Given the description of an element on the screen output the (x, y) to click on. 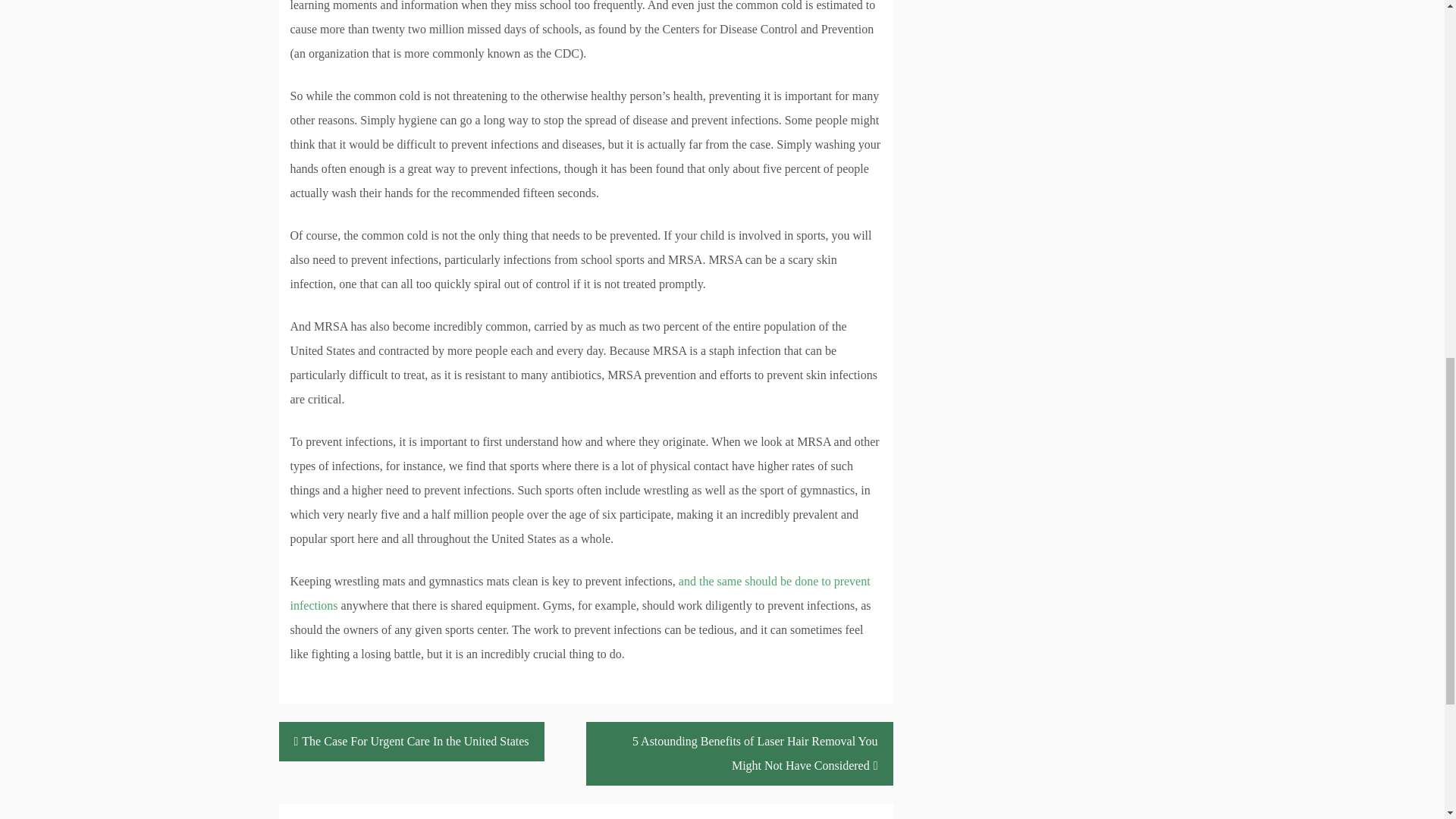
and the same should be done to prevent infections (579, 592)
The Case For Urgent Care In the United States (411, 741)
Find more info regarding Prevent infections (579, 592)
